Given the description of an element on the screen output the (x, y) to click on. 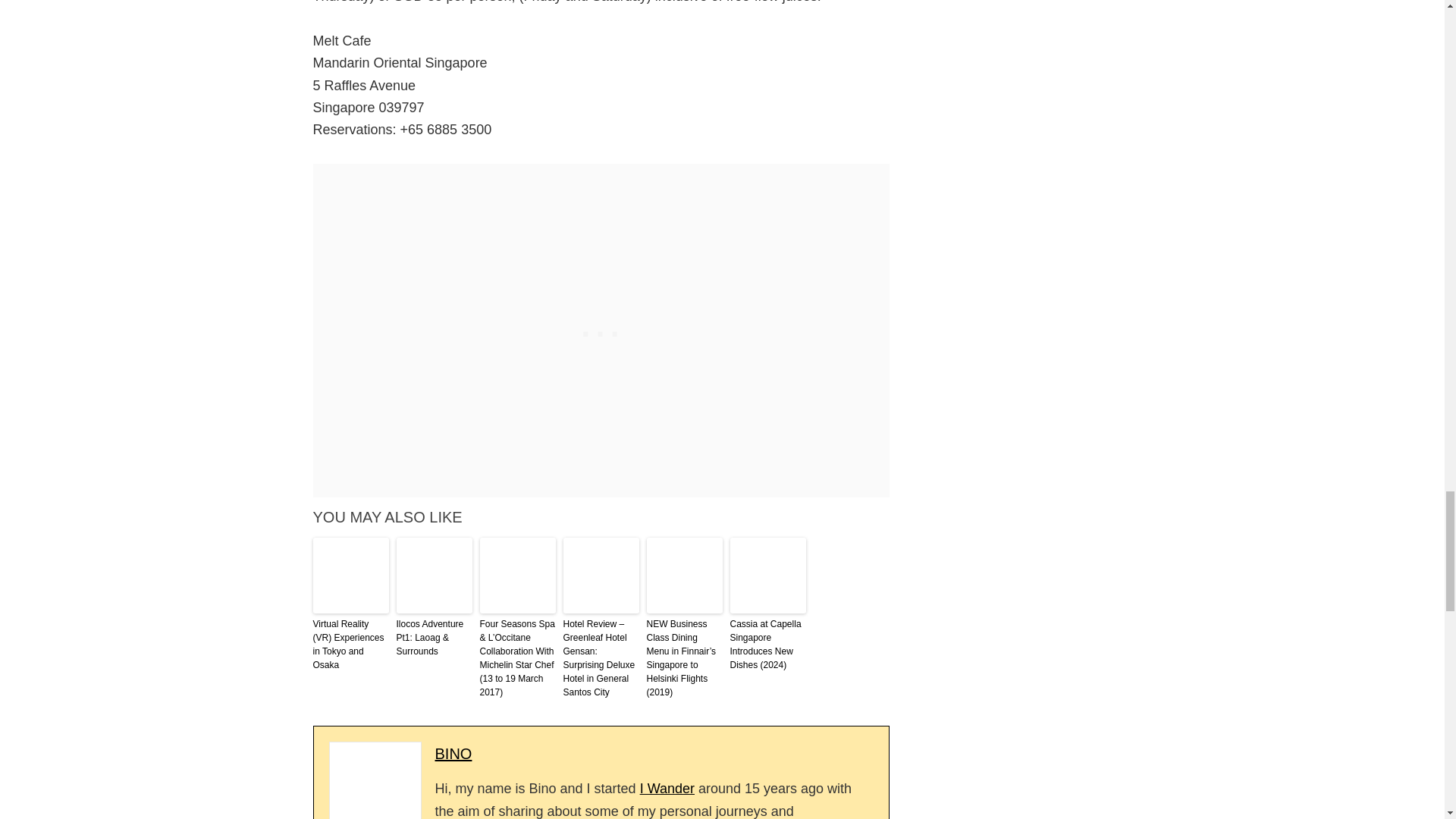
Bino (453, 753)
